Given the description of an element on the screen output the (x, y) to click on. 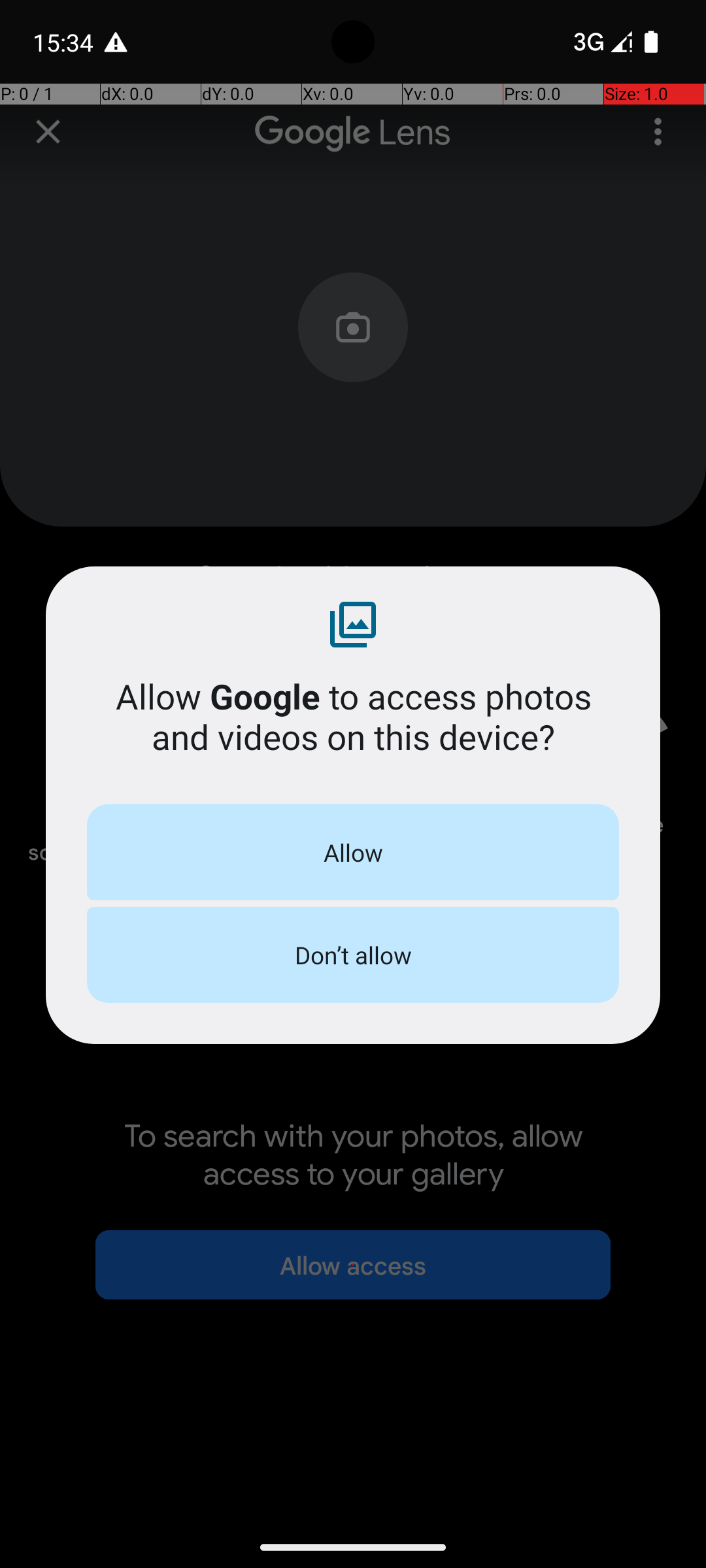
Allow Google to access photos and videos on this device? Element type: android.widget.TextView (352, 715)
Allow Element type: android.widget.Button (352, 852)
Don’t allow Element type: android.widget.Button (352, 954)
